Given the description of an element on the screen output the (x, y) to click on. 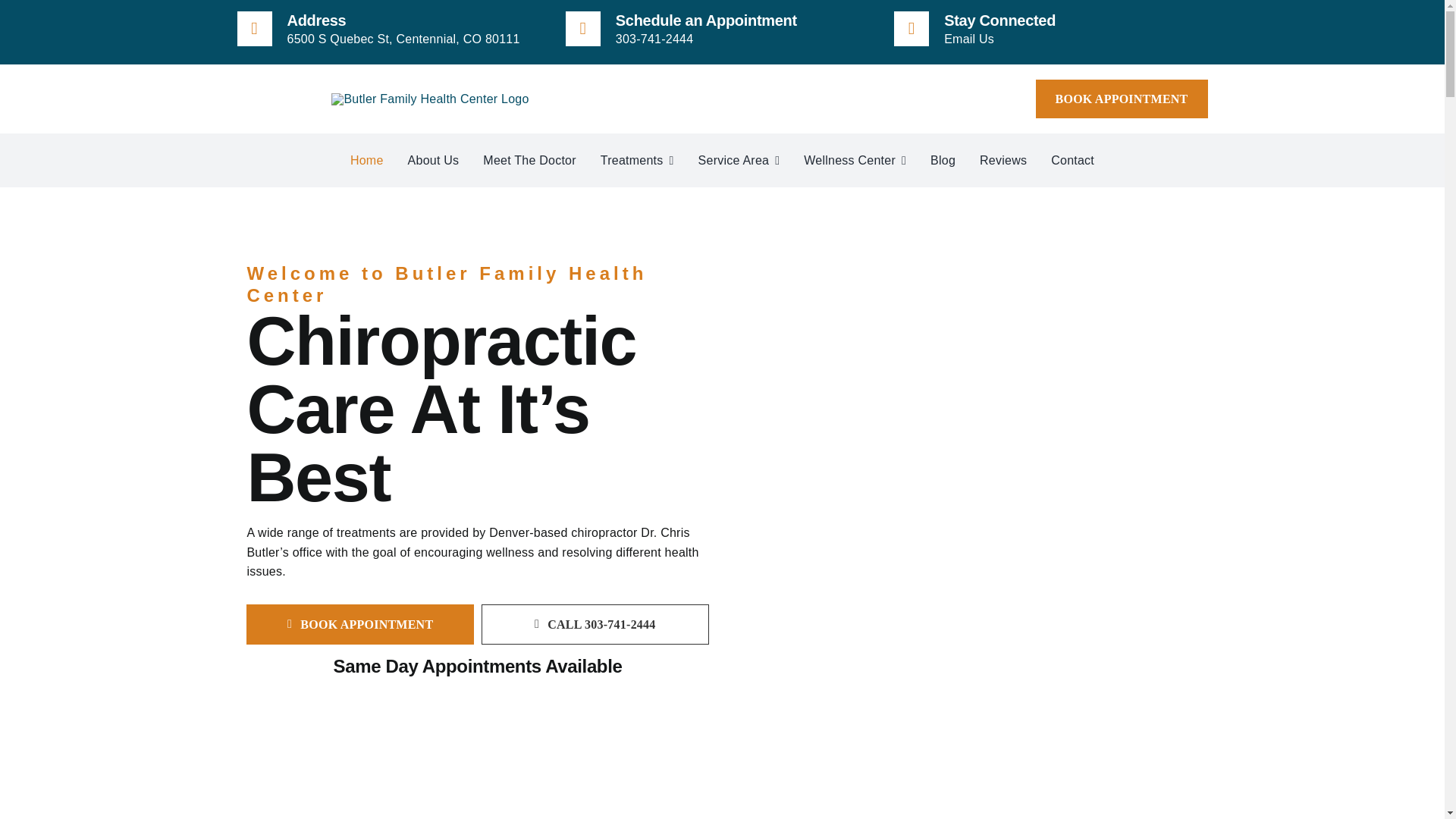
BOOK APPOINTMENT (1121, 98)
Home (366, 160)
Meet The Doctor (529, 160)
Email Us (968, 38)
About Us (433, 160)
Treatments (636, 160)
6500 S Quebec St, Centennial, CO 80111 (402, 38)
